Given the description of an element on the screen output the (x, y) to click on. 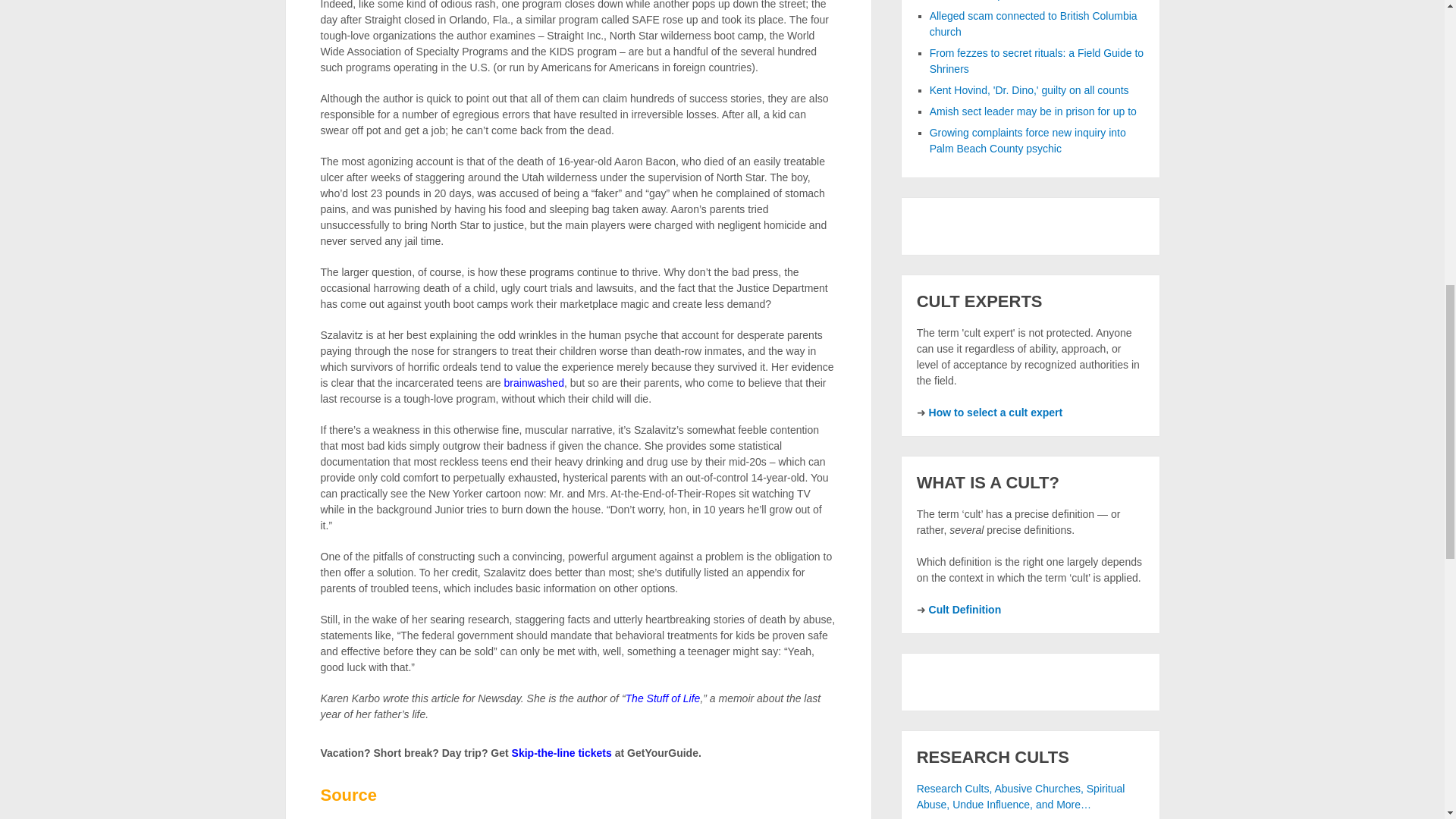
Skip-the-line tickets (561, 752)
brainwashed (533, 382)
Alleged scam connected to British Columbia church (1033, 23)
Amish sect leader may be in prison for up to (1033, 111)
The Stuff of Life (663, 698)
From fezzes to secret rituals: a Field Guide to Shriners (1036, 60)
Cult Definition (964, 609)
Kent Hovind, 'Dr. Dino,' guilty on all counts (1029, 90)
